Given the description of an element on the screen output the (x, y) to click on. 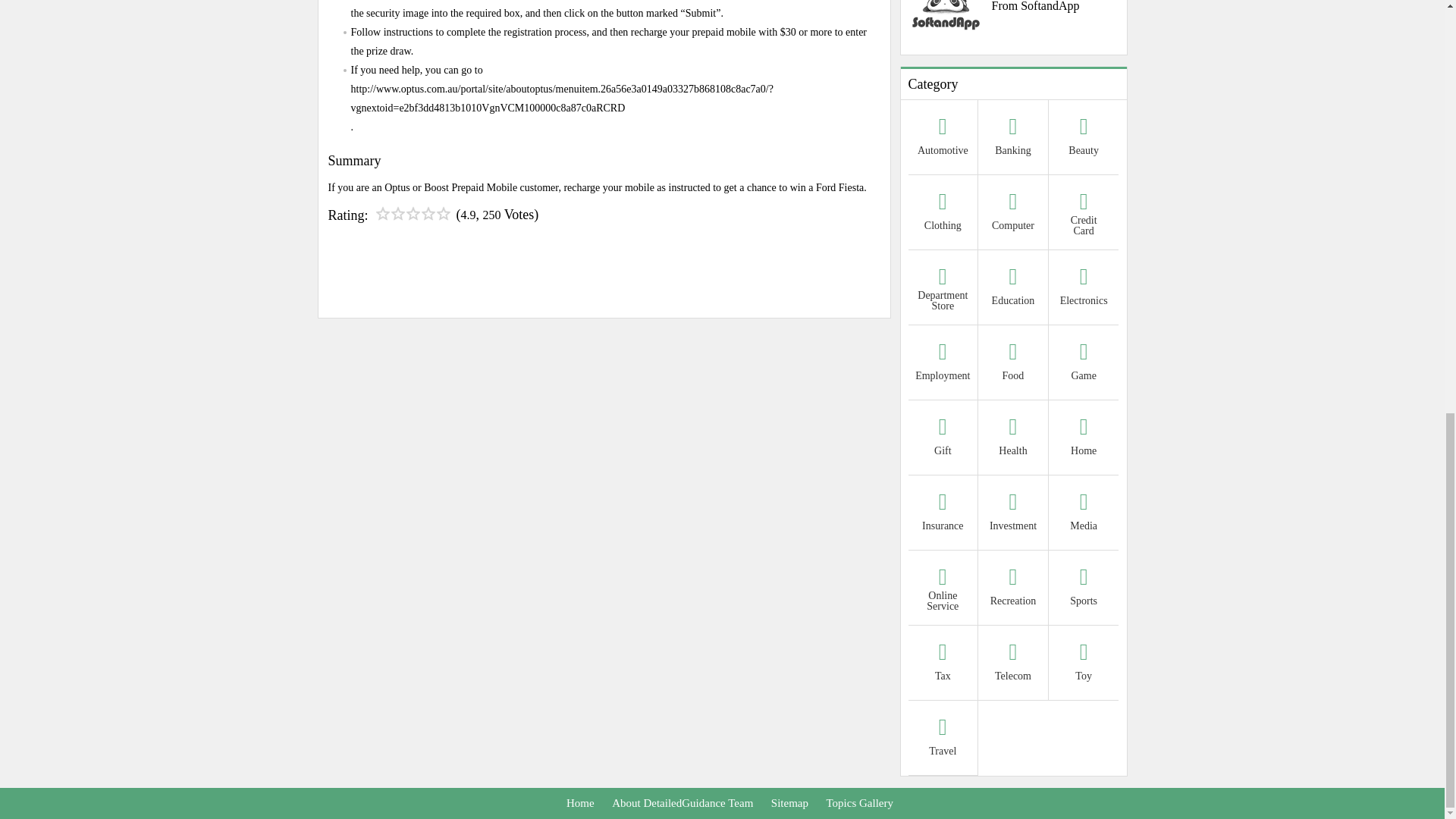
Computer (1013, 214)
Electronics (1083, 288)
Clothing (943, 214)
Food (1013, 364)
Gift (943, 439)
Automotive (943, 138)
How to Install Google Earth to Your Phone From SoftandApp (1013, 7)
Credit Card (1083, 214)
Beauty (1083, 138)
Department Store (943, 288)
